Given the description of an element on the screen output the (x, y) to click on. 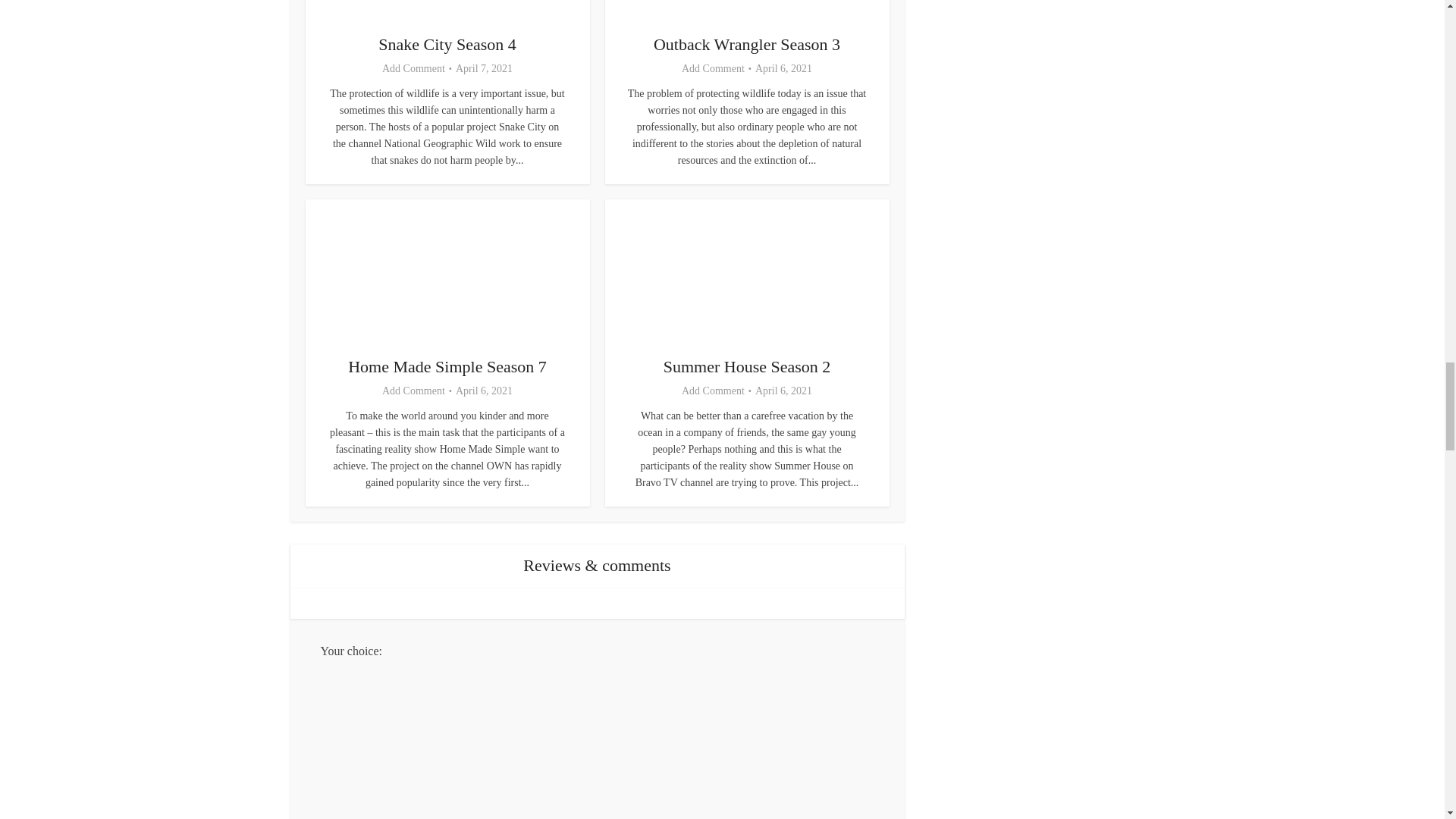
1 Star (612, 739)
Summer House Season 2 (747, 366)
Outback Wrangler Season 3 (746, 44)
Add Comment (413, 391)
Add Comment (413, 69)
Snake City Season 4 (447, 44)
Snake City Season 4 (447, 44)
Home Made Simple Season 7 (447, 366)
Outback Wrangler Season 3 (746, 44)
Add Comment (712, 391)
Add Comment (712, 69)
Home Made Simple Season 7 (447, 366)
Summer House Season 2 (747, 366)
